Given the description of an element on the screen output the (x, y) to click on. 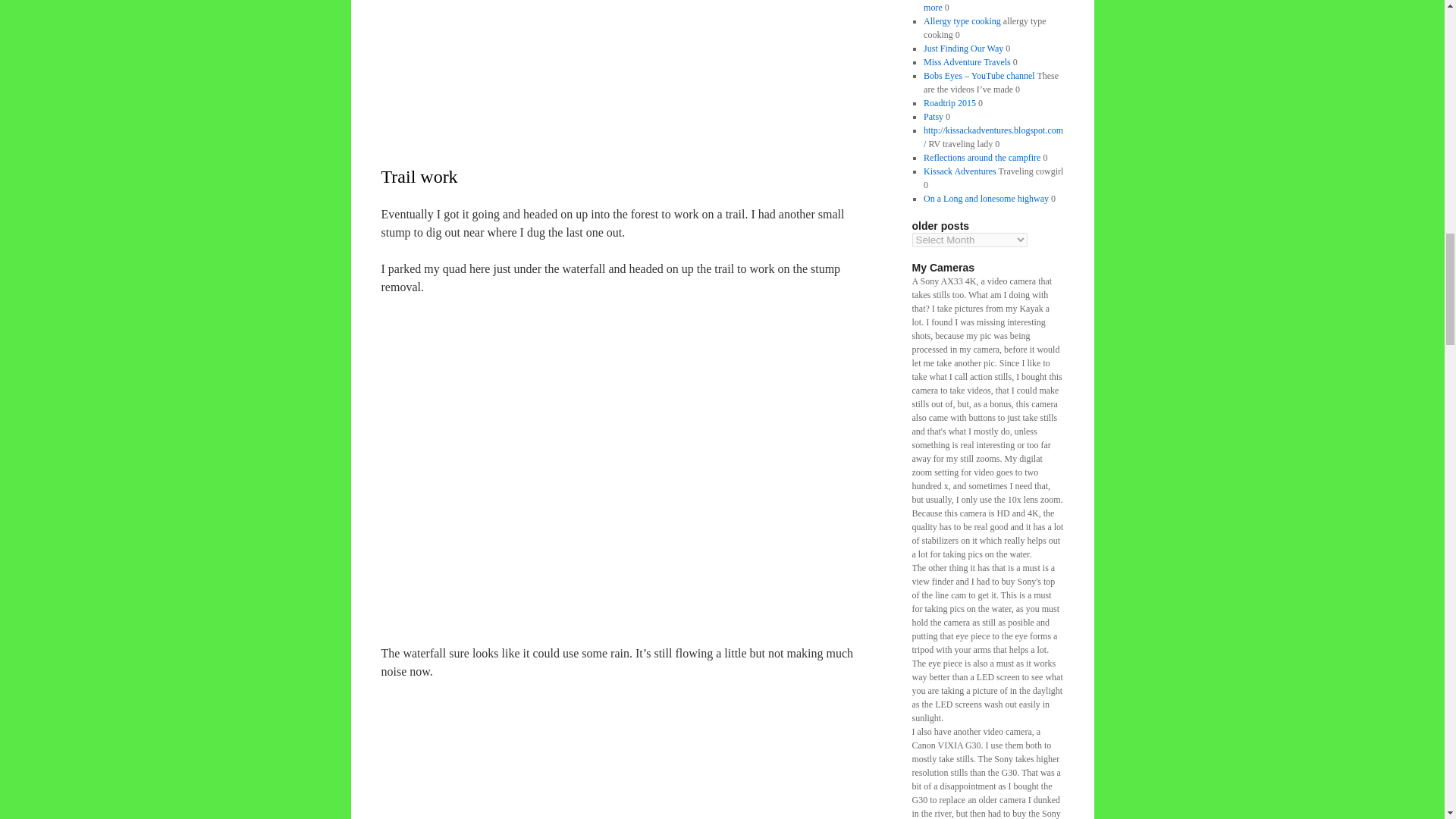
water1 (630, 51)
fall3 (630, 749)
